Given the description of an element on the screen output the (x, y) to click on. 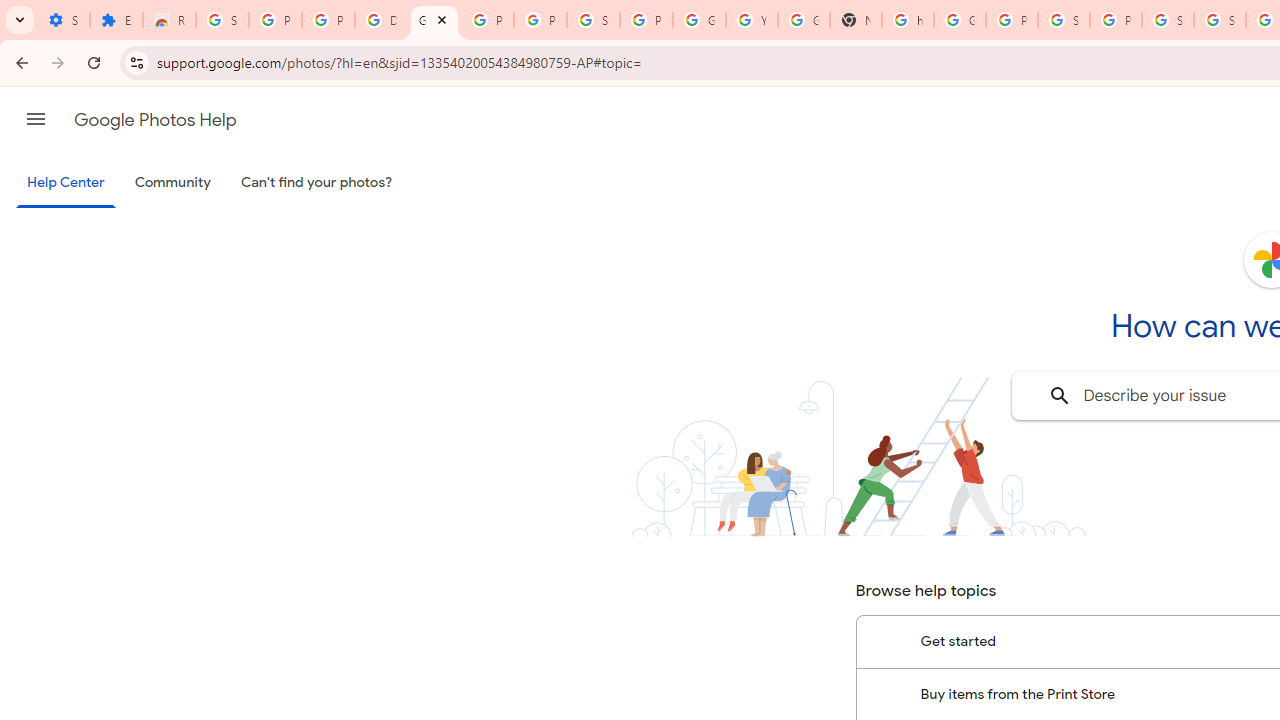
Extensions (116, 20)
Sign in - Google Accounts (1219, 20)
Delete photos & videos - Computer - Google Photos Help (381, 20)
Sign in - Google Accounts (1167, 20)
